Given the description of an element on the screen output the (x, y) to click on. 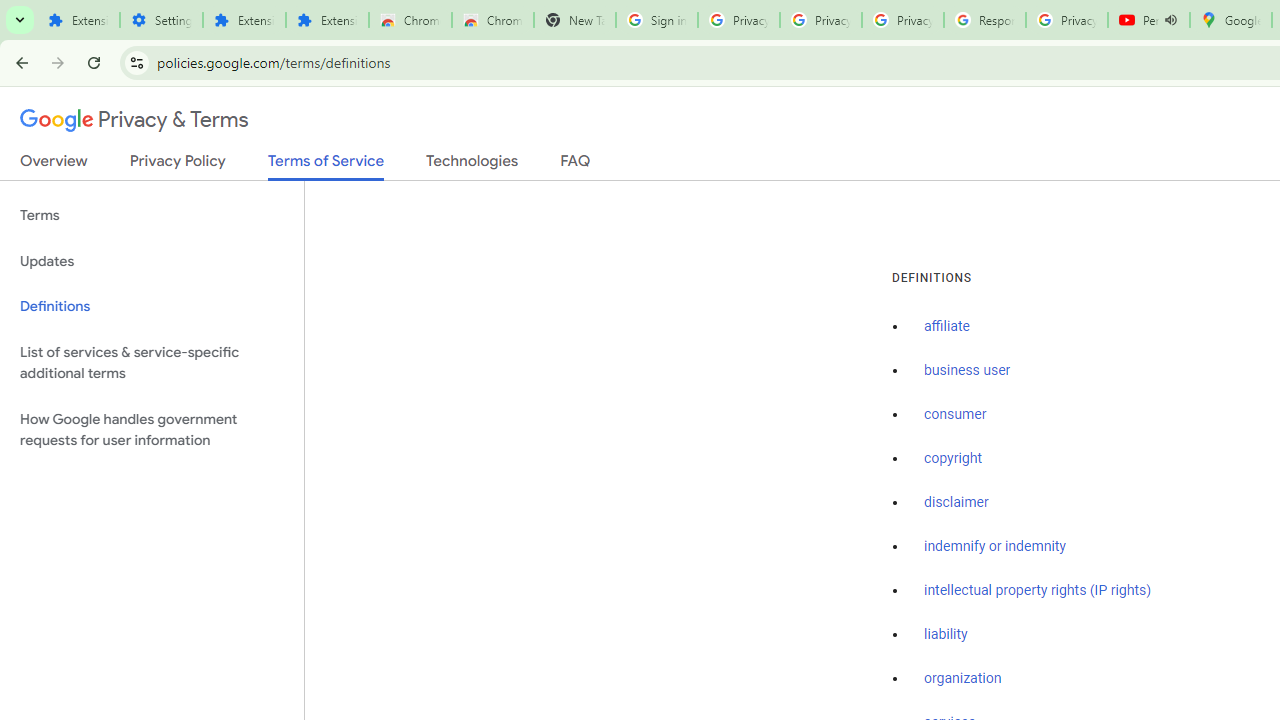
Settings (161, 20)
Personalized AI for you | Gemini - YouTube - Audio playing (1149, 20)
copyright (952, 459)
Extensions (78, 20)
Extensions (244, 20)
How Google handles government requests for user information (152, 429)
